Given the description of an element on the screen output the (x, y) to click on. 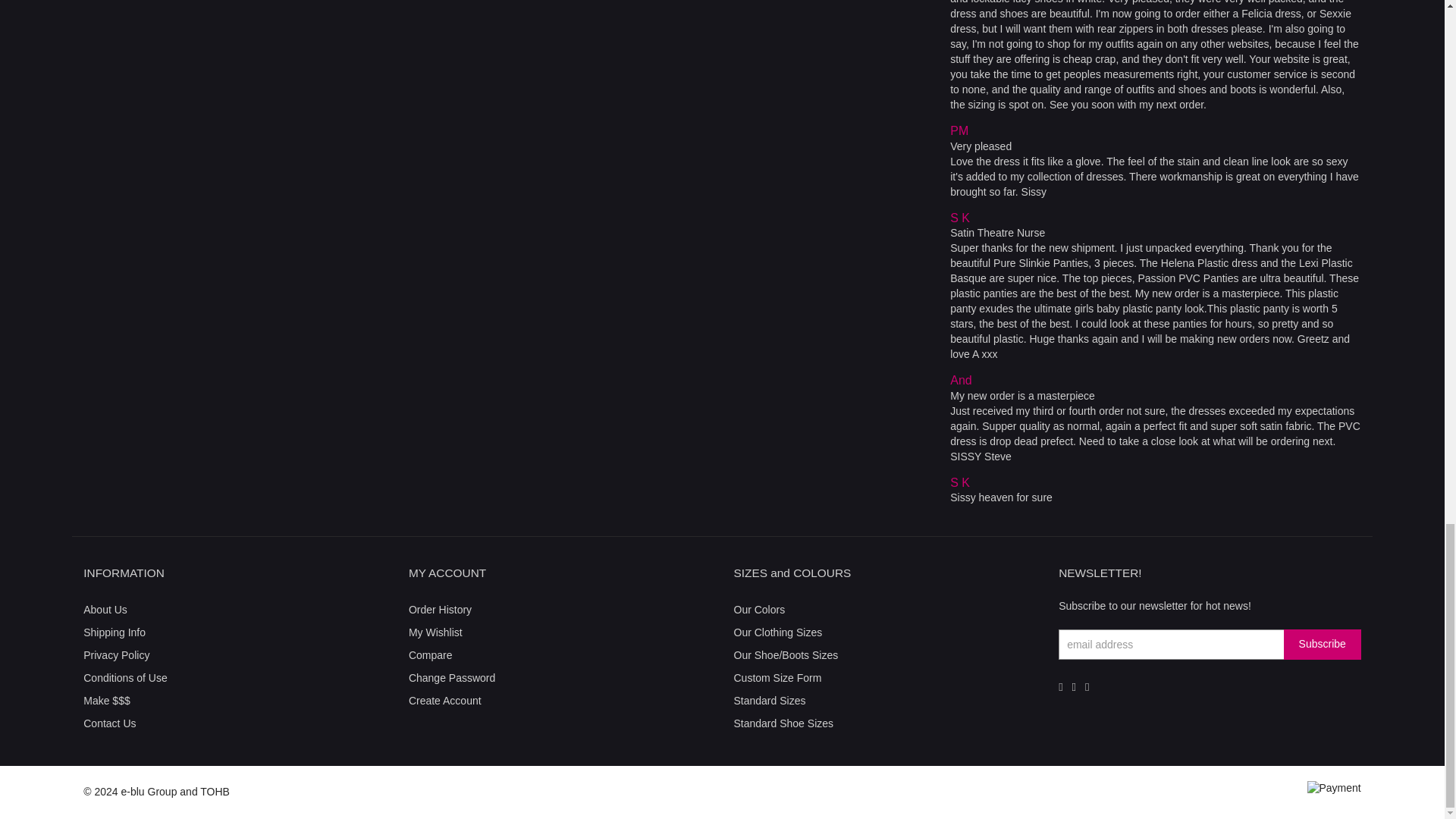
Subscribe (1322, 644)
